Given the description of an element on the screen output the (x, y) to click on. 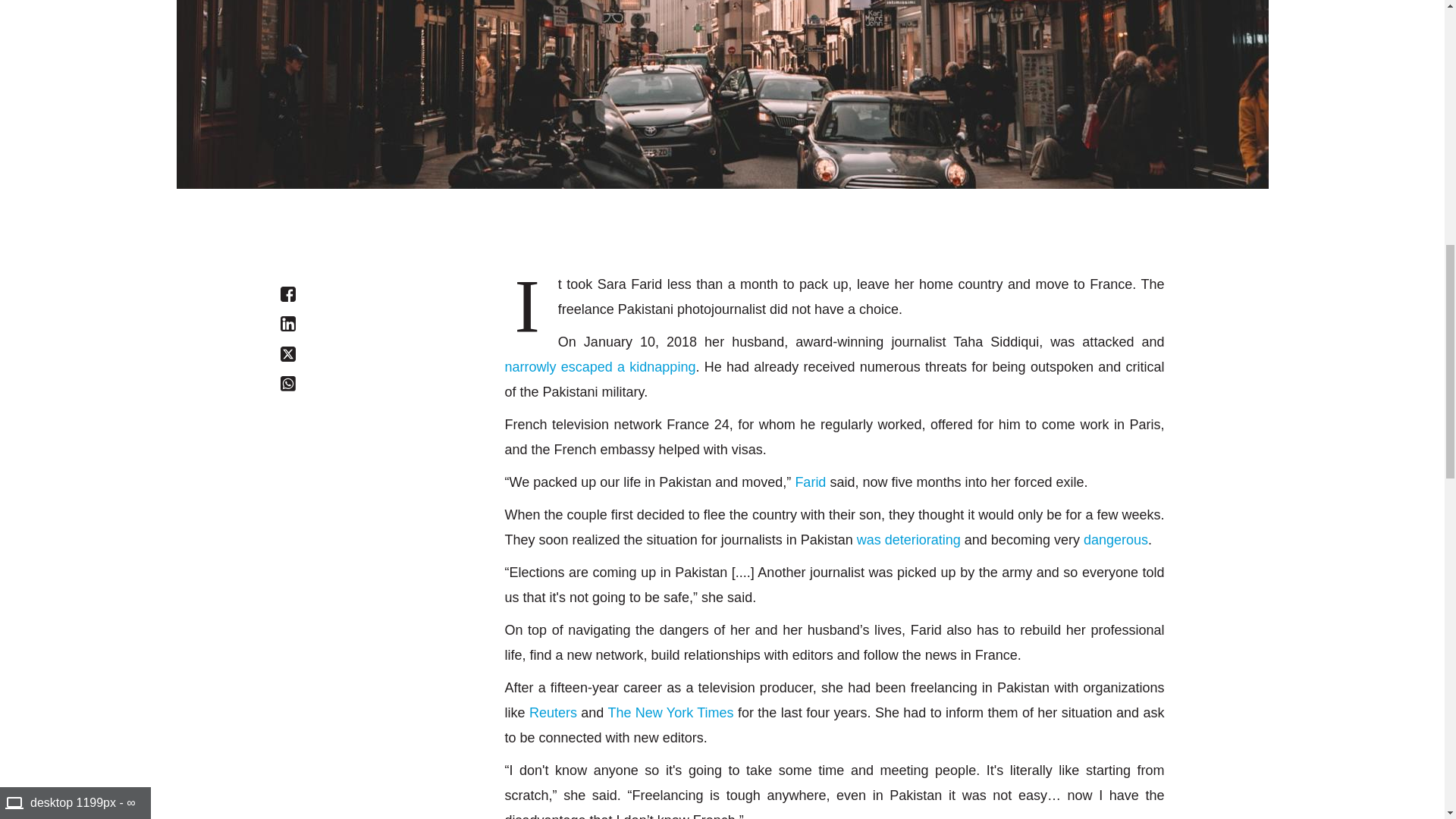
Linkedin (288, 323)
Facebook (288, 294)
Twitter (288, 353)
Whatsapp (288, 383)
